Given the description of an element on the screen output the (x, y) to click on. 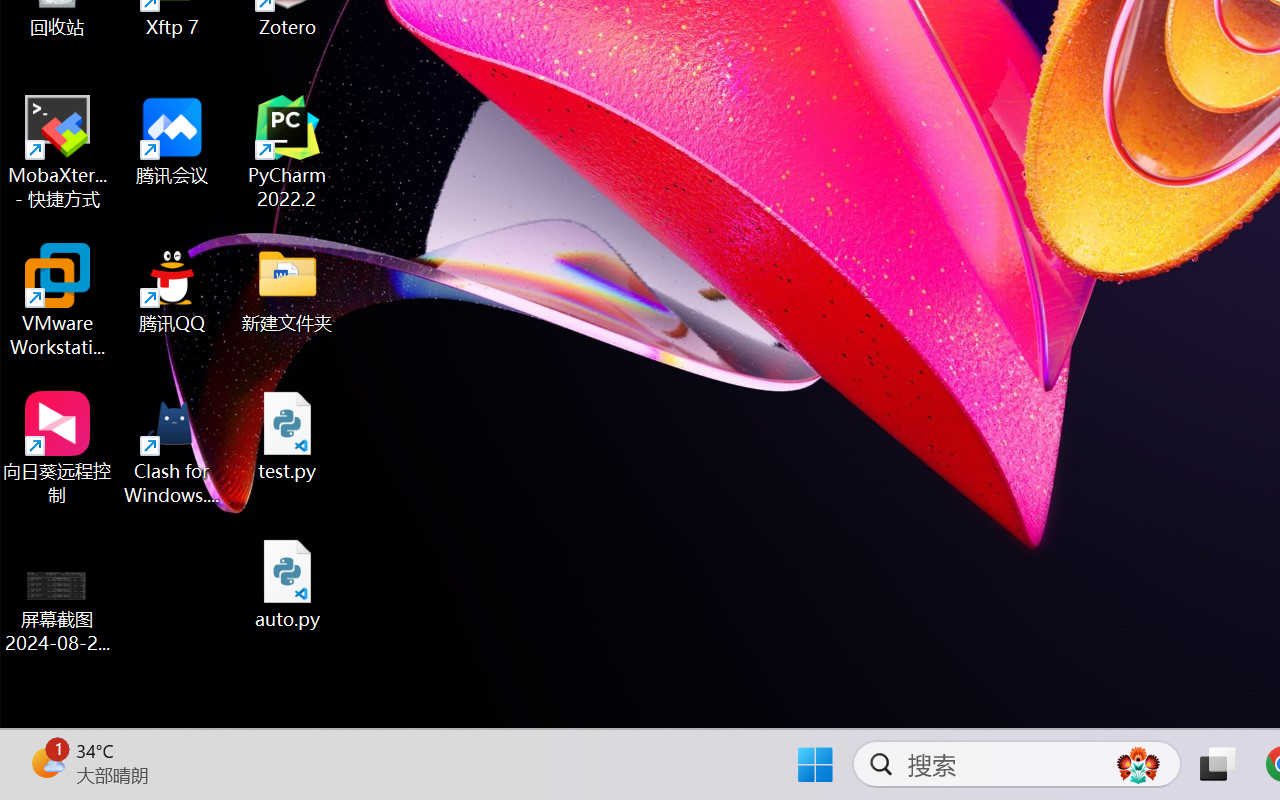
test.py (287, 436)
auto.py (287, 584)
